Given the description of an element on the screen output the (x, y) to click on. 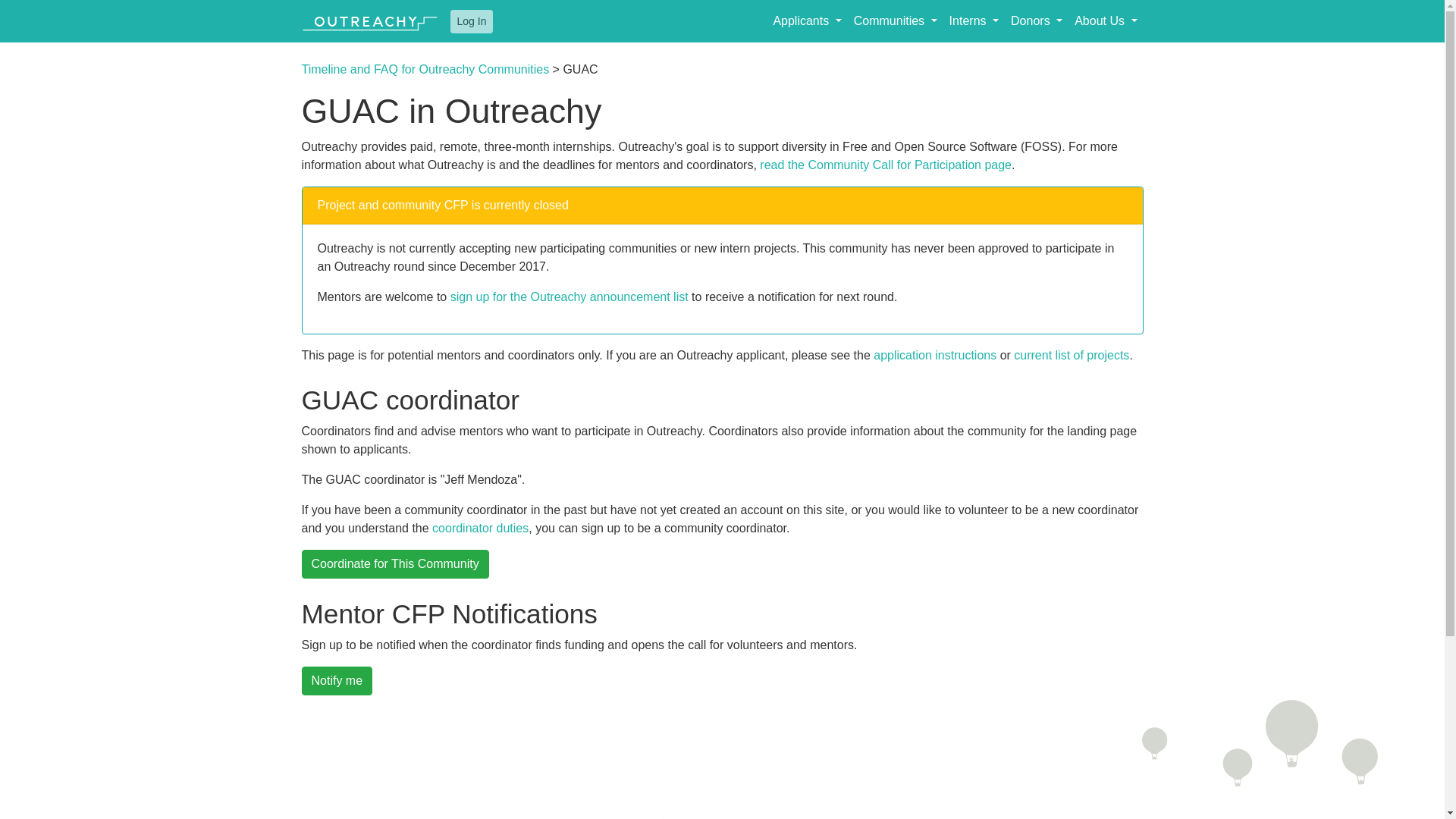
Donors (1036, 20)
Coordinate for This Community (395, 563)
Log In (471, 20)
Timeline and FAQ for Outreachy Communities (425, 69)
coordinator duties (480, 527)
Communities (895, 20)
Applicants (807, 20)
Notify me (336, 680)
Interns (973, 20)
current list of projects (1071, 354)
sign up for the Outreachy announcement list (568, 296)
read the Community Call for Participation page (885, 164)
About Us (1105, 20)
application instructions (934, 354)
